Given the description of an element on the screen output the (x, y) to click on. 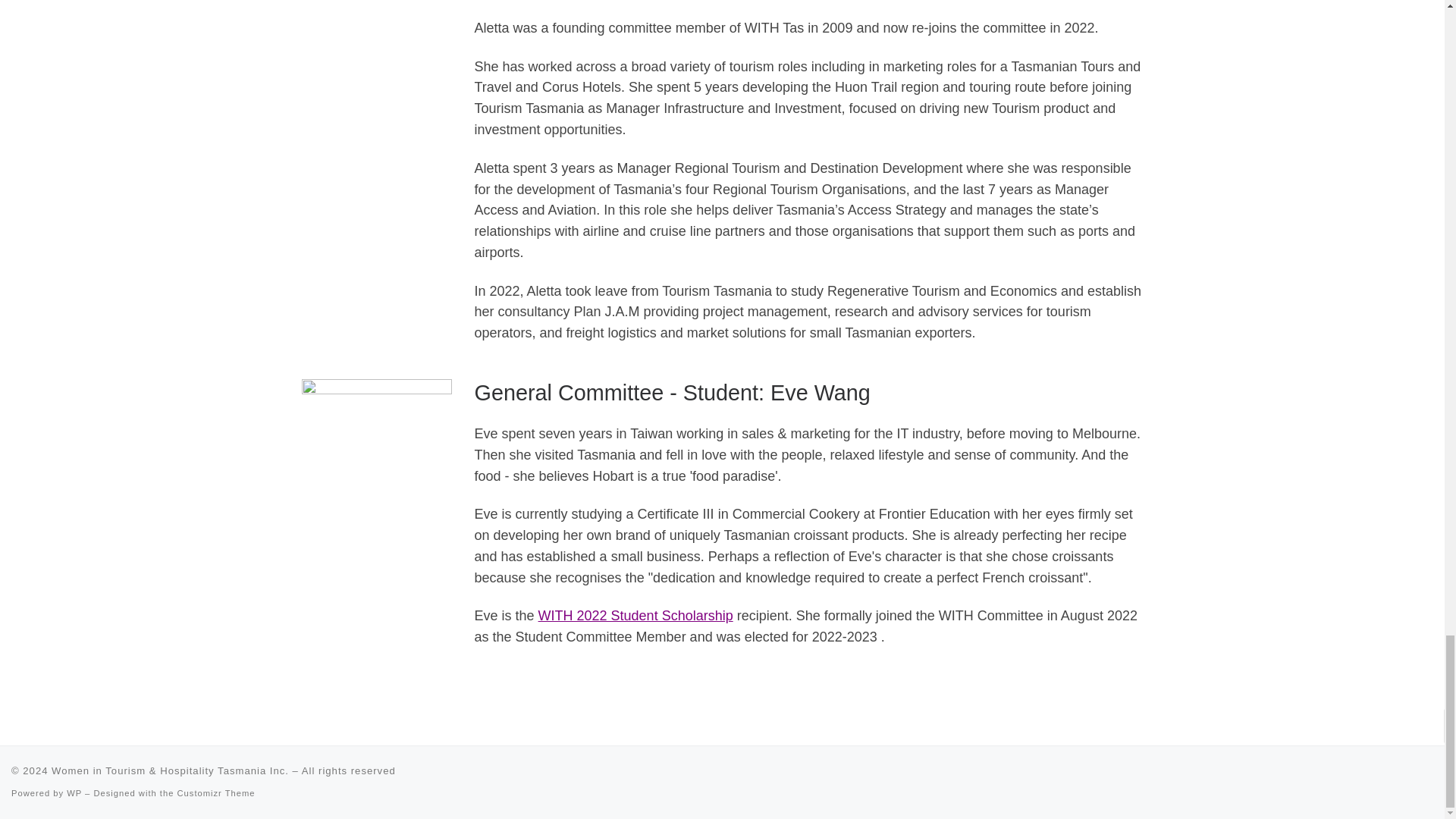
Powered by WordPress (73, 792)
Aletta Macdonald (376, 83)
Customizr Theme (216, 792)
